Given the description of an element on the screen output the (x, y) to click on. 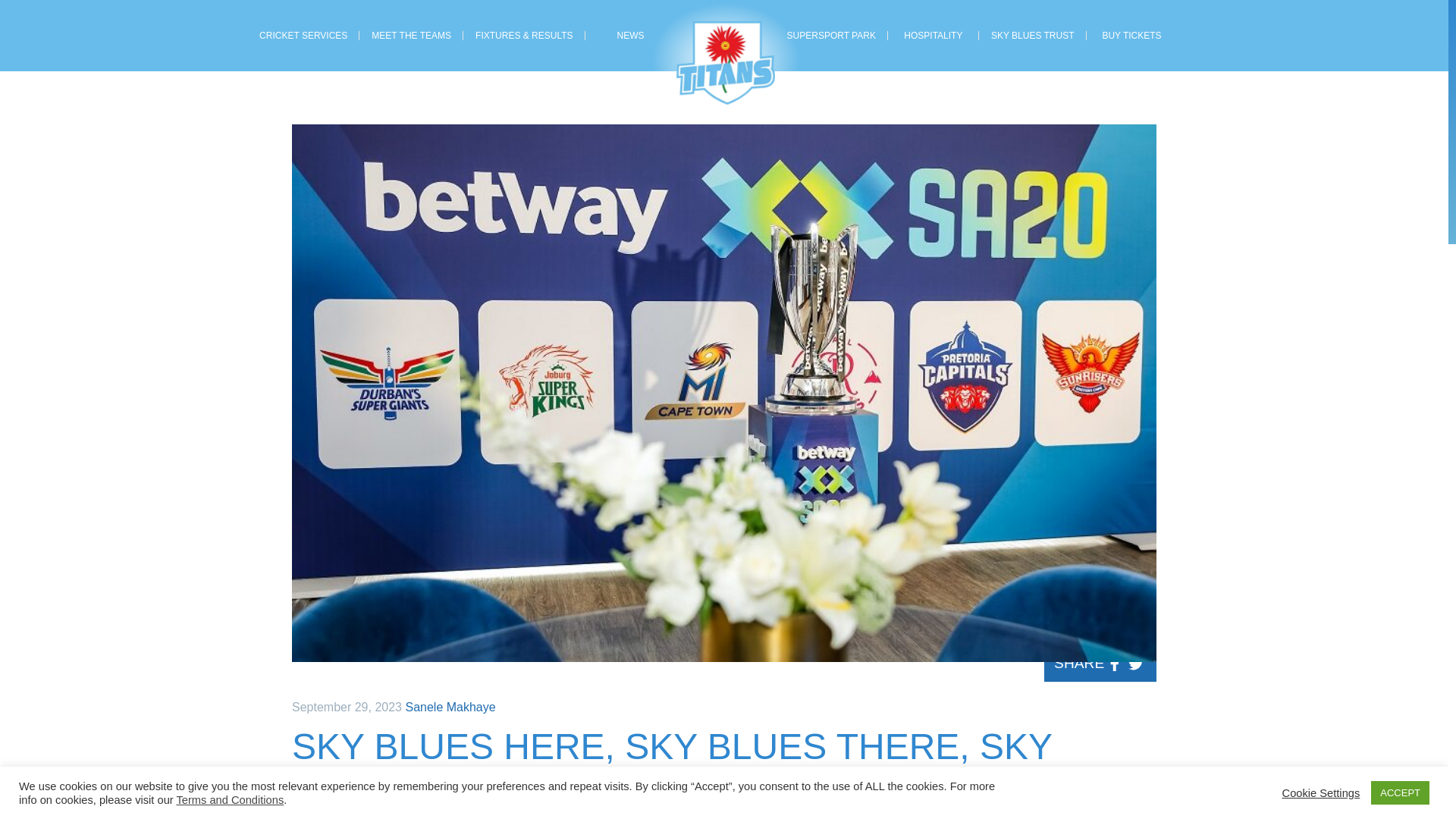
SUPERSPORT PARK (831, 35)
HOSPITALITY (932, 35)
Sanele Makhaye (449, 707)
NEWS (630, 35)
MEET THE TEAMS (411, 35)
CRICKET SERVICES (303, 35)
BUY TICKETS (1131, 35)
SKY BLUES TRUST (1032, 35)
